Given the description of an element on the screen output the (x, y) to click on. 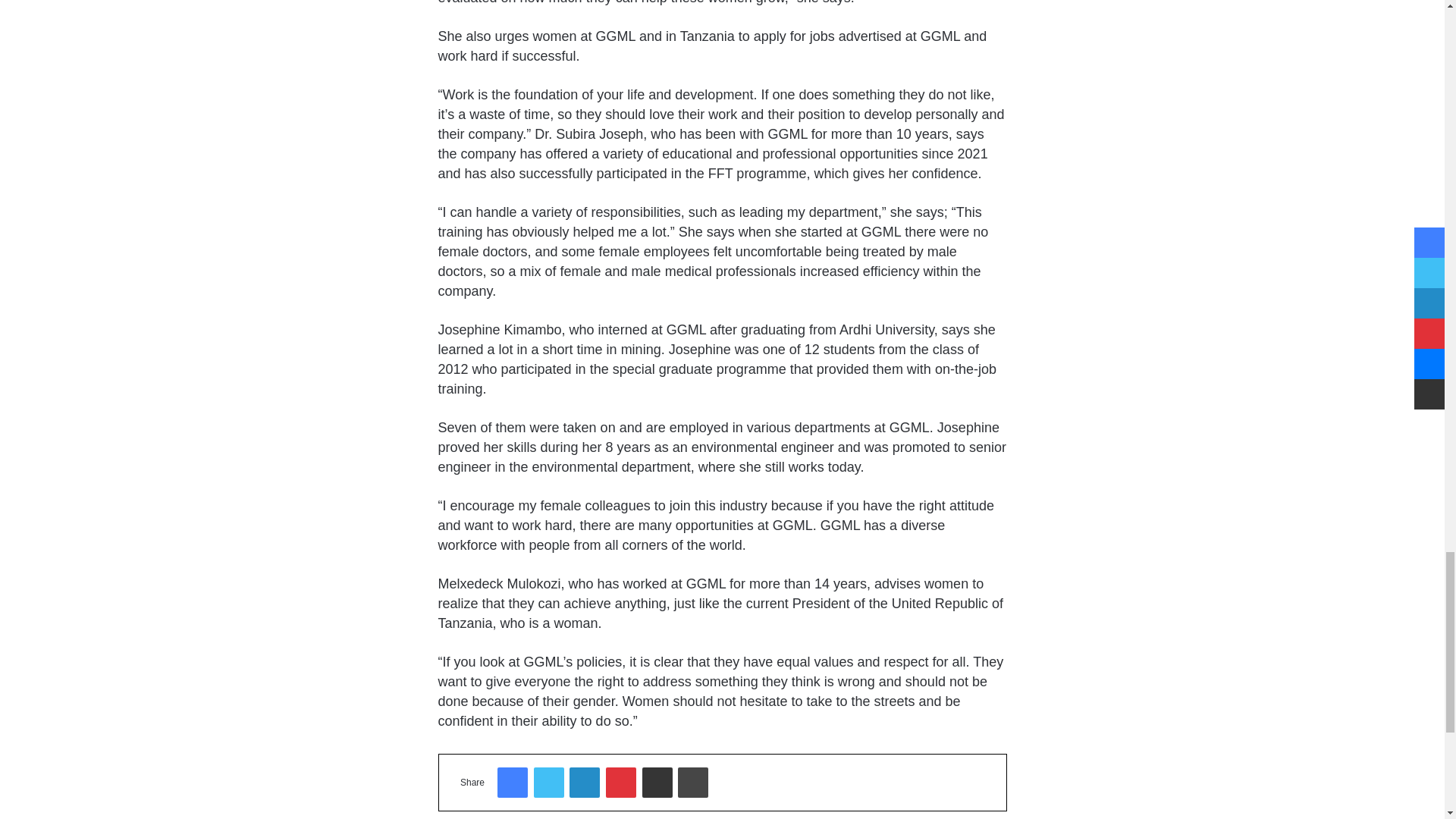
Pinterest (620, 782)
Facebook (512, 782)
LinkedIn (584, 782)
Pinterest (620, 782)
Print (692, 782)
Share via Email (656, 782)
Twitter (549, 782)
Share via Email (656, 782)
Facebook (512, 782)
Twitter (549, 782)
LinkedIn (584, 782)
